Given the description of an element on the screen output the (x, y) to click on. 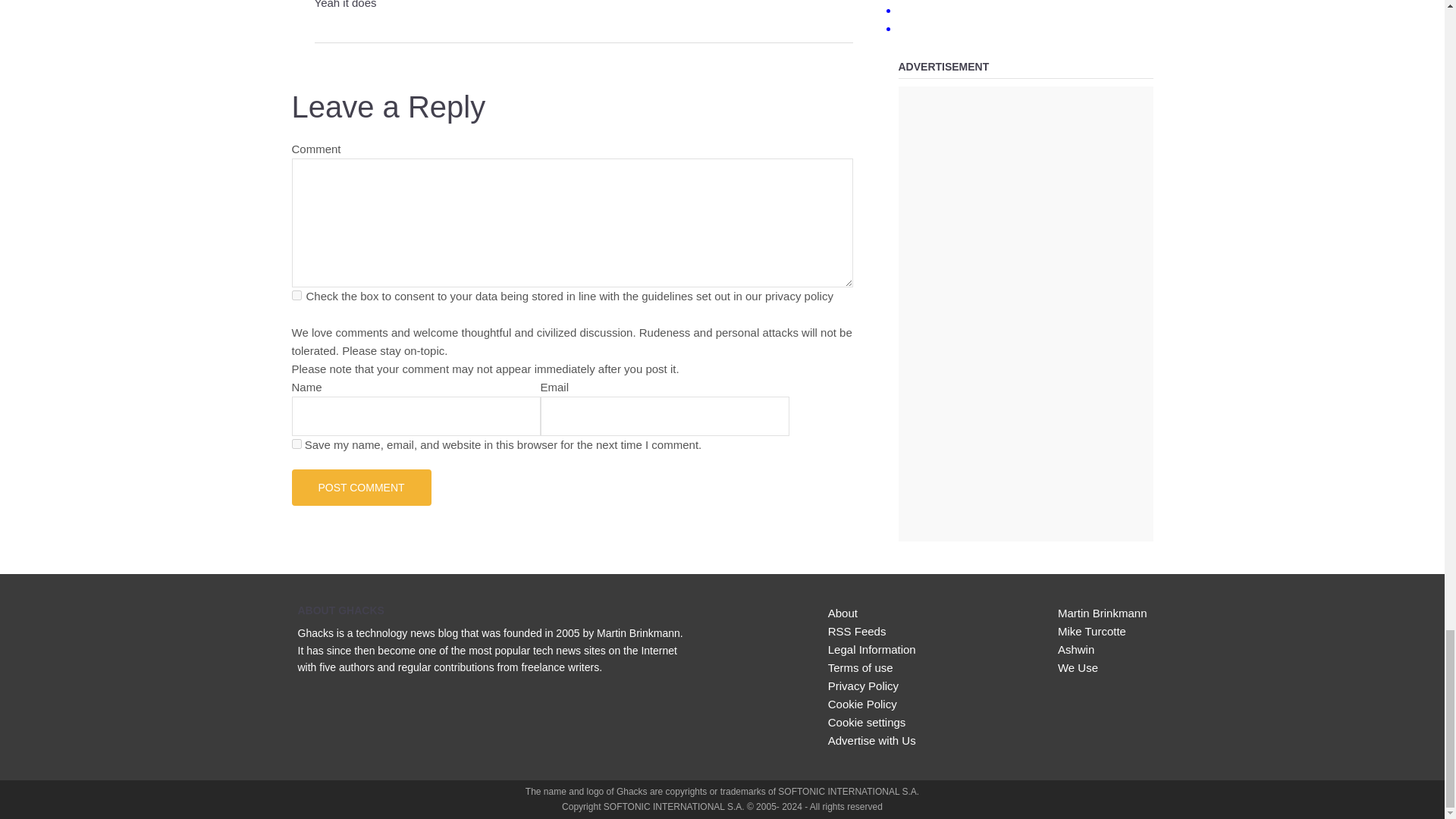
Post Comment (360, 487)
yes (296, 443)
privacy-key (296, 295)
